Given the description of an element on the screen output the (x, y) to click on. 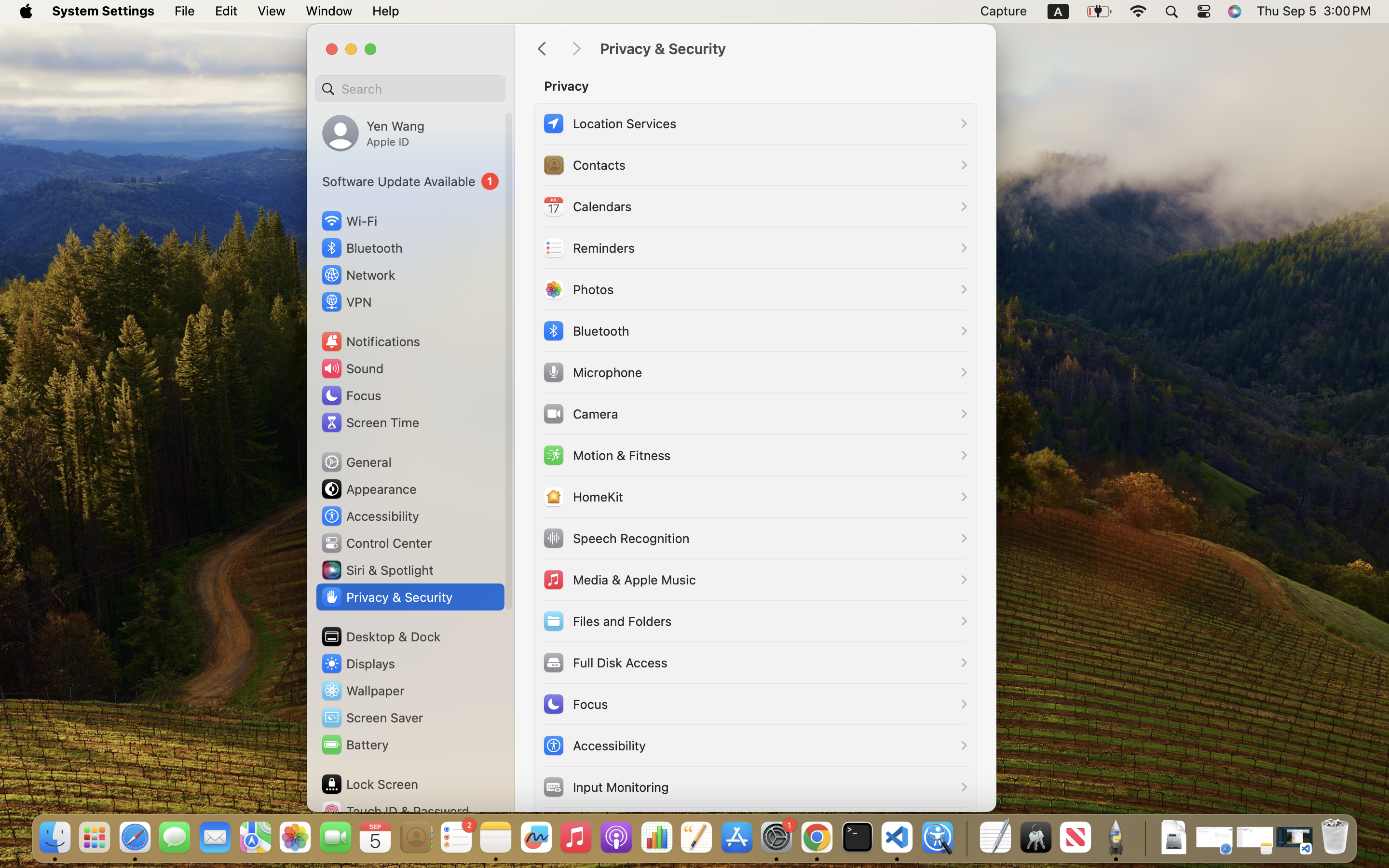
Focus Element type: AXStaticText (350, 394)
Accessibility Element type: AXStaticText (369, 515)
Yen Wang, Apple ID Element type: AXStaticText (373, 132)
Siri & Spotlight Element type: AXStaticText (376, 569)
Displays Element type: AXStaticText (357, 663)
